Given the description of an element on the screen output the (x, y) to click on. 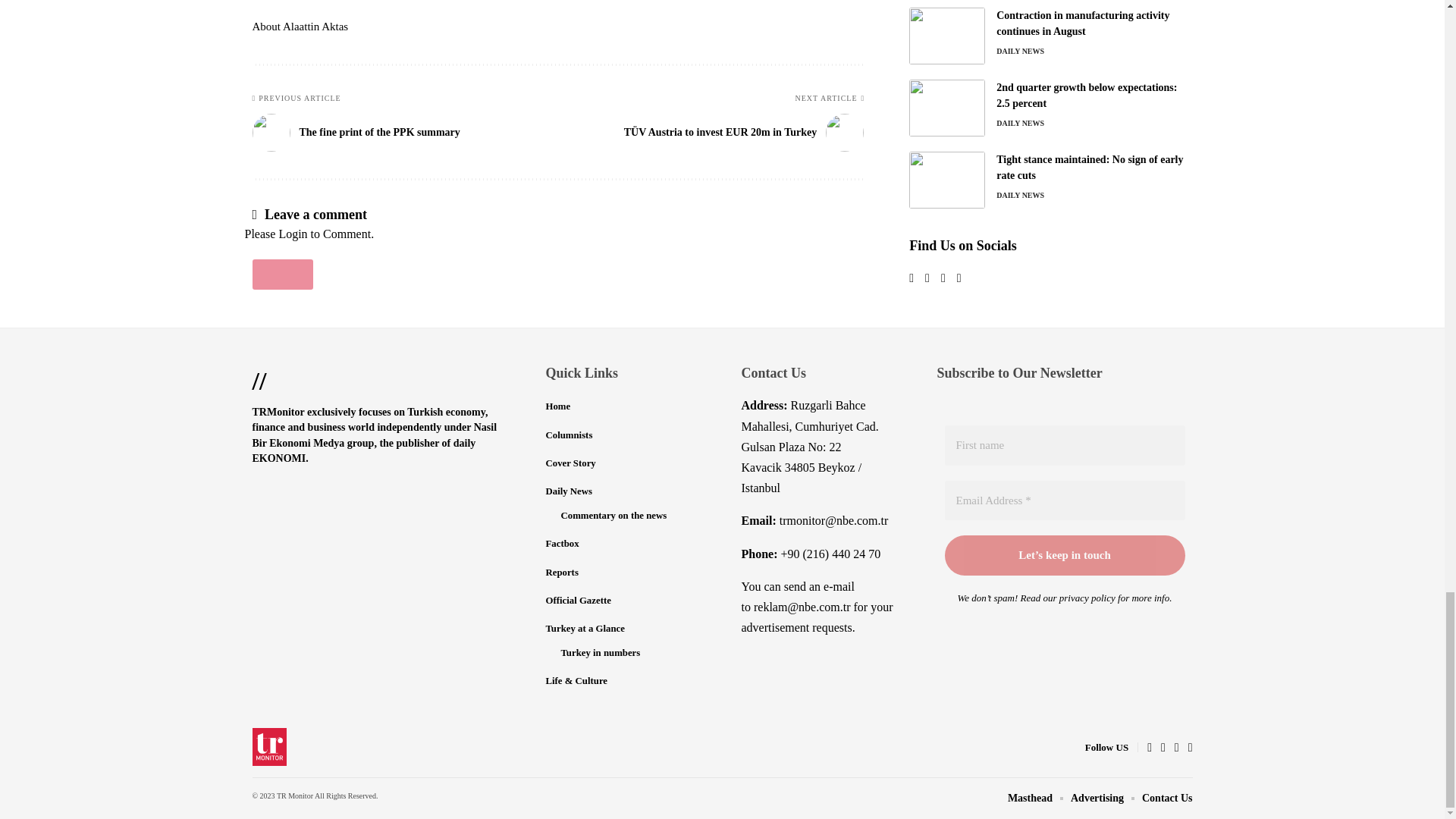
First name (1064, 445)
Email Address (1064, 500)
TR MONITOR (268, 746)
